Given the description of an element on the screen output the (x, y) to click on. 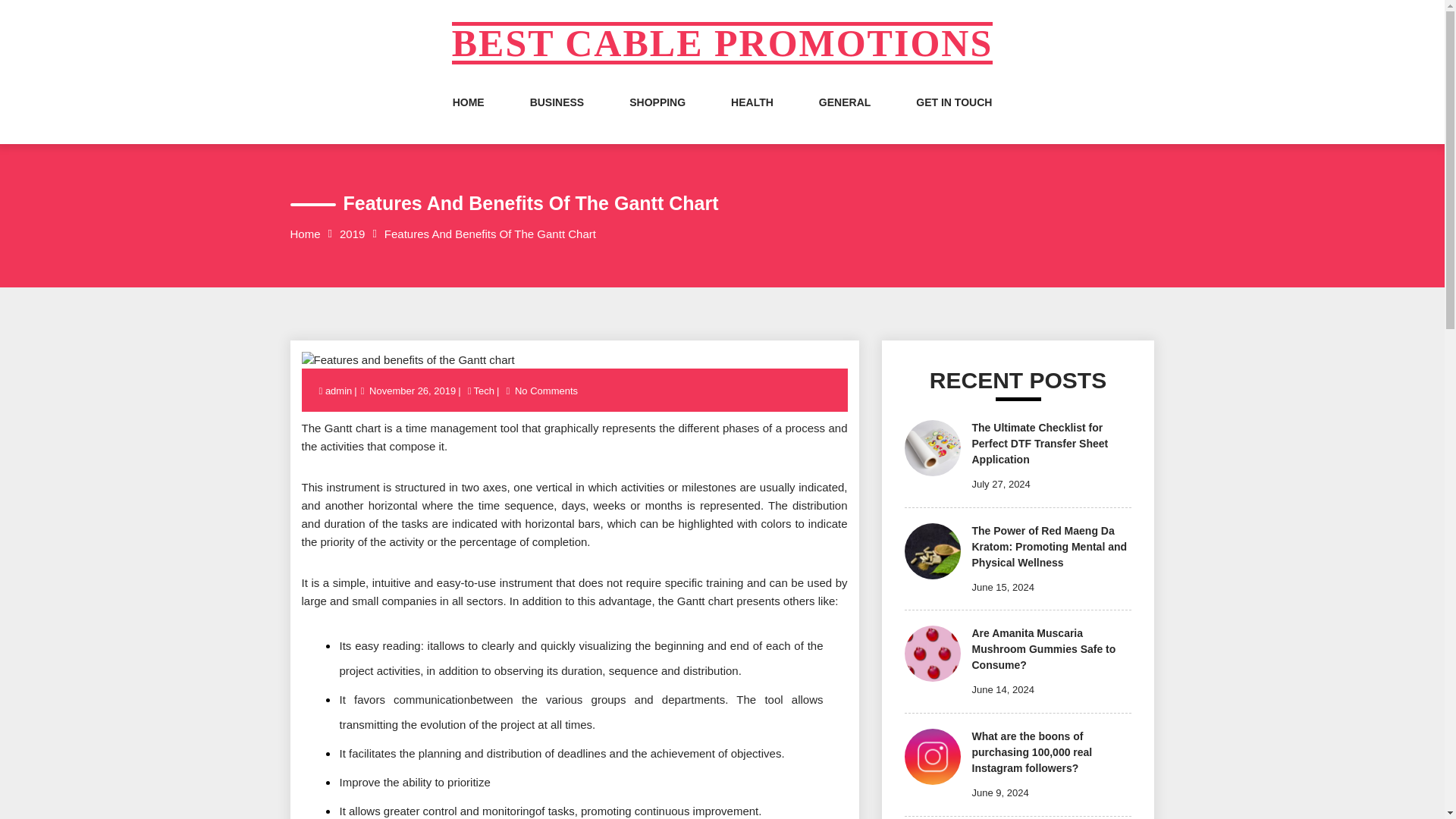
SHOPPING (656, 117)
BEST CABLE PROMOTIONS (721, 43)
No Comments (545, 390)
GET IN TOUCH (953, 117)
BUSINESS (557, 117)
Tech (483, 390)
HEALTH (751, 117)
